Given the description of an element on the screen output the (x, y) to click on. 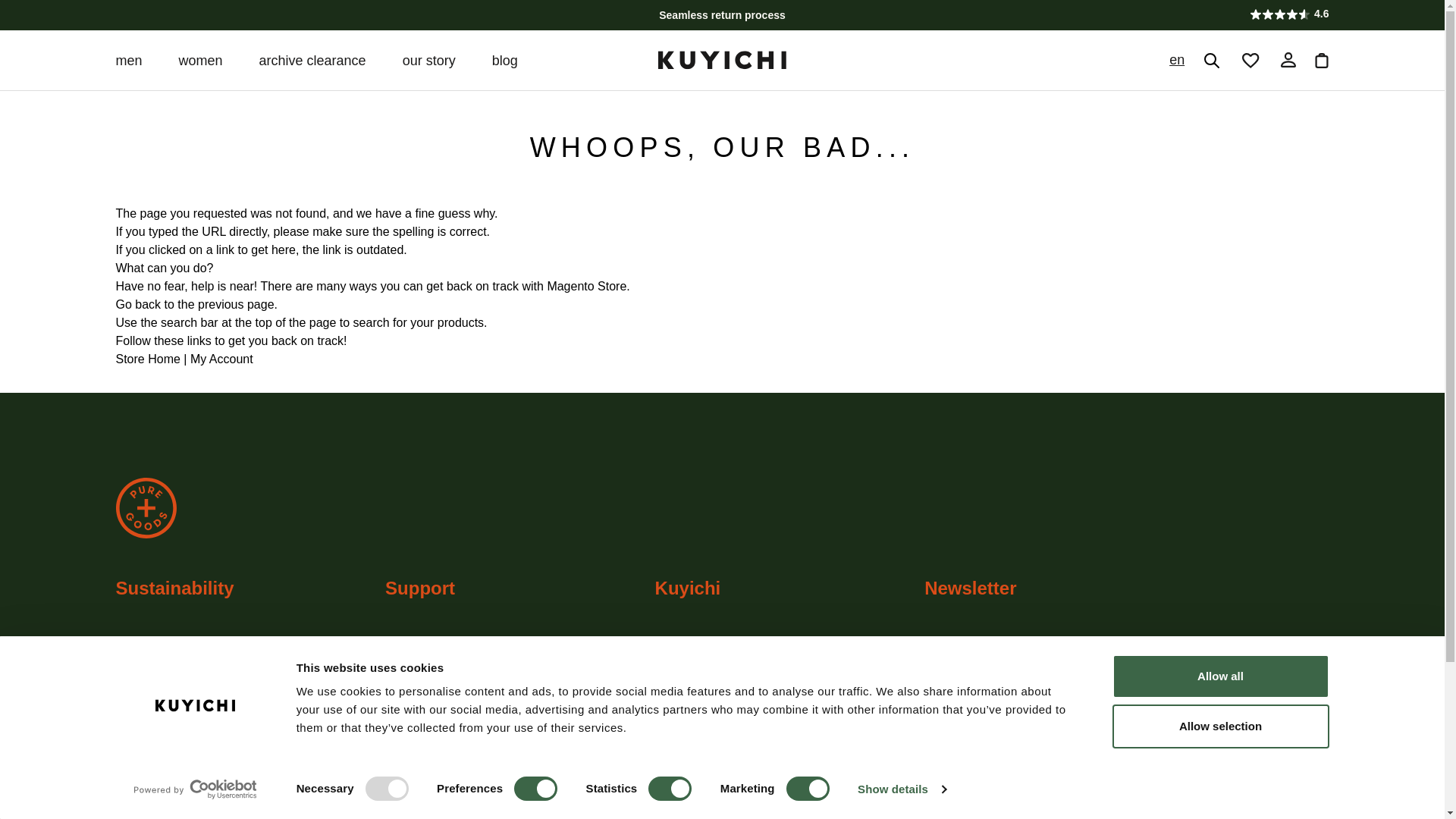
Show details (900, 789)
Men (128, 59)
